Given the description of an element on the screen output the (x, y) to click on. 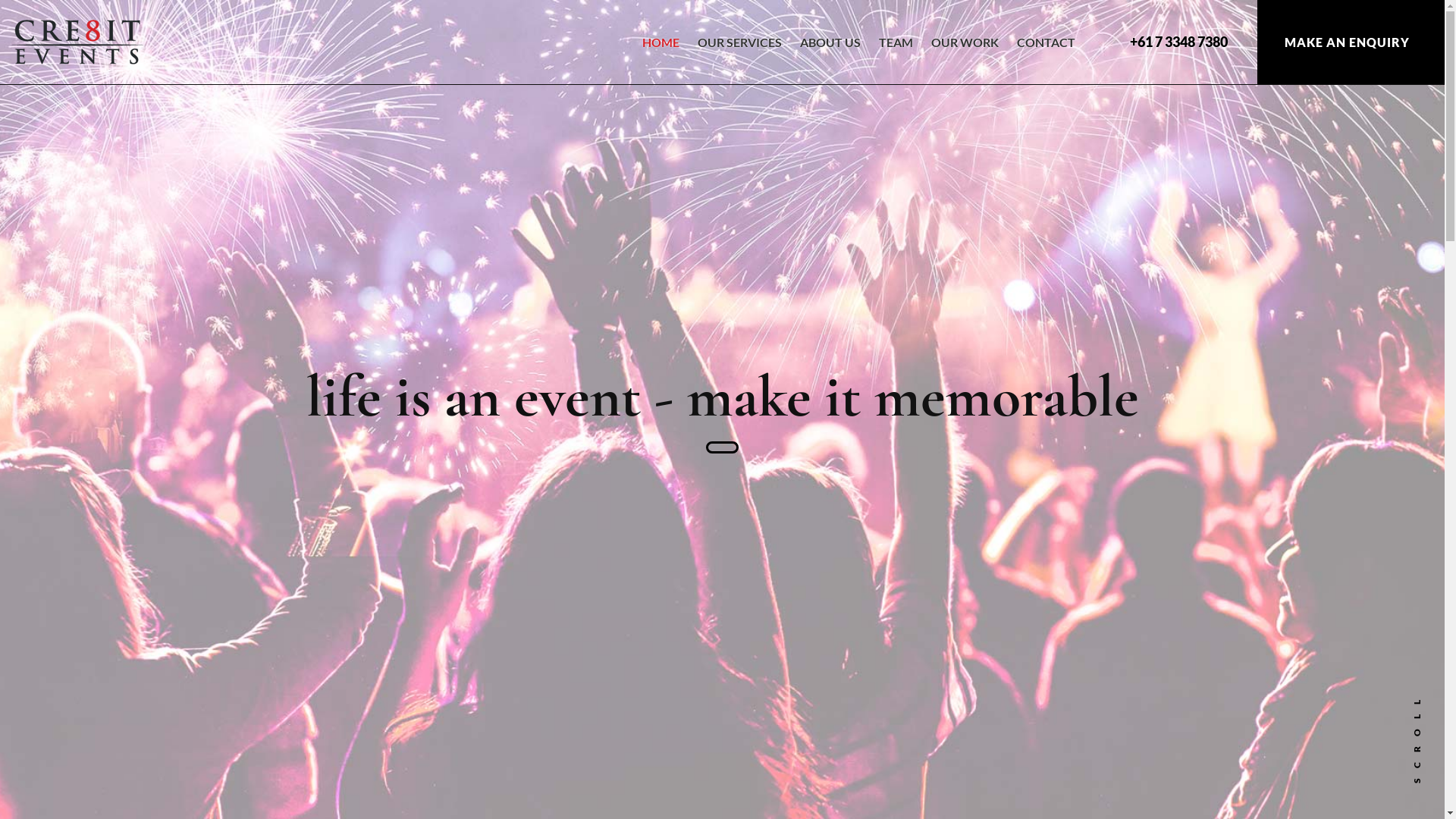
OUR WORK Element type: text (964, 54)
Skip to primary navigation Element type: text (0, 0)
Cre8it Events Element type: text (77, 41)
MAKE AN ENQUIRY Element type: text (1350, 42)
TEAM Element type: text (895, 54)
HOME Element type: text (660, 54)
ABOUT US Element type: text (829, 54)
CONTACT Element type: text (1045, 54)
+61 7 3348 7380 Element type: text (1174, 41)
OUR SERVICES Element type: text (739, 54)
